Given the description of an element on the screen output the (x, y) to click on. 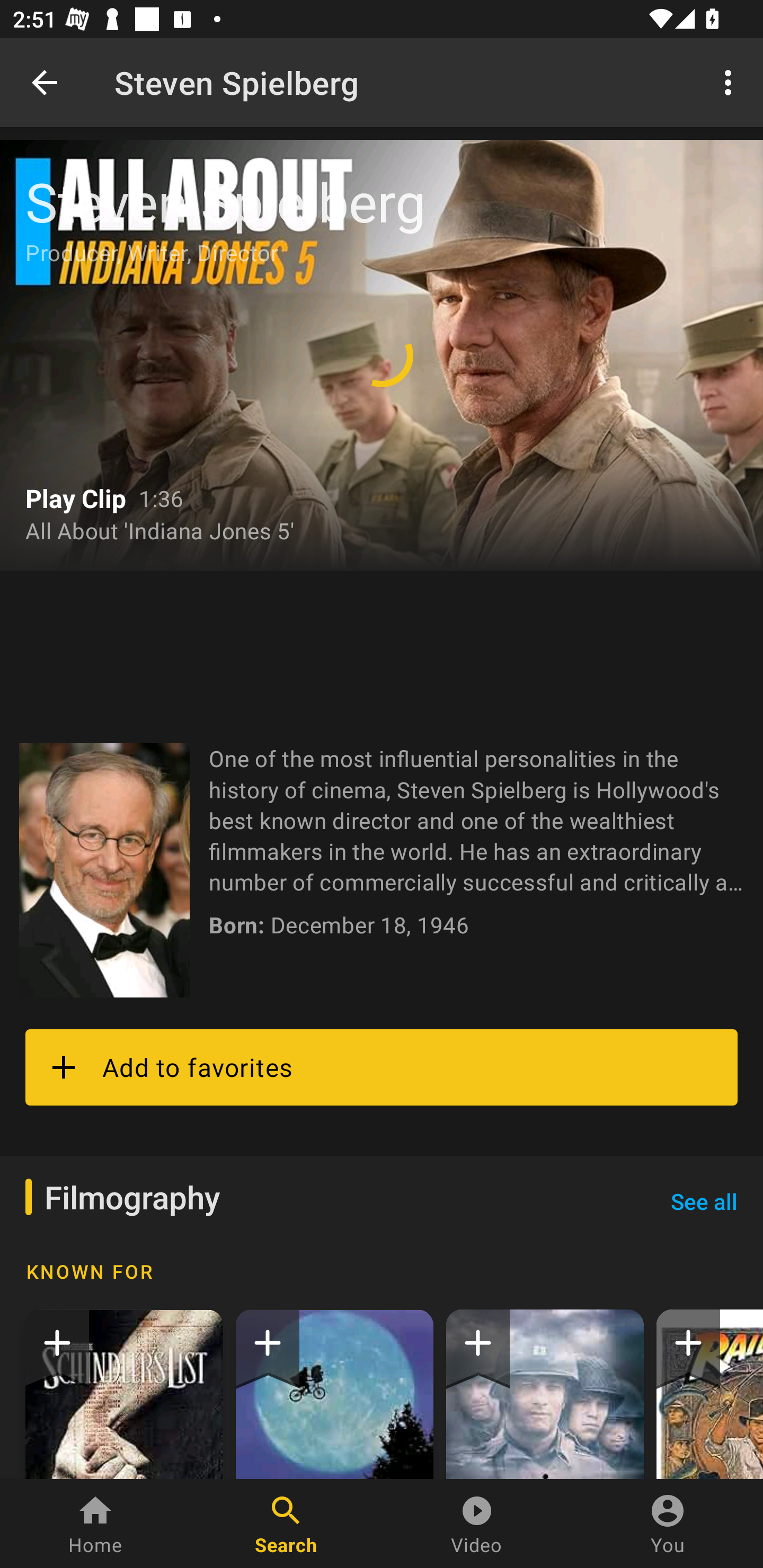
More options (731, 81)
toggle controls (381, 354)
Add to favorites (381, 1066)
See all See all  (703, 1201)
Home (95, 1523)
Video (476, 1523)
You (667, 1523)
